Given the description of an element on the screen output the (x, y) to click on. 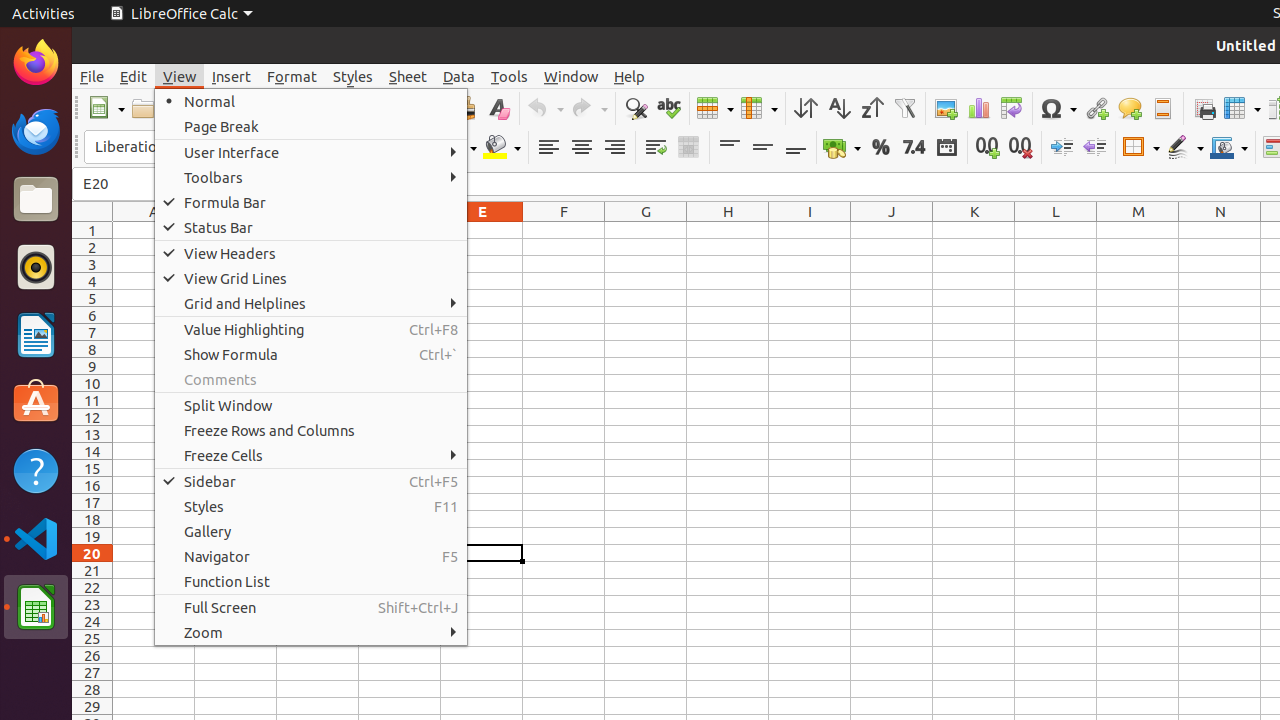
Print Area Element type: push-button (1203, 108)
Align Right Element type: push-button (614, 147)
Normal Element type: radio-menu-item (311, 101)
G1 Element type: table-cell (646, 230)
Increase Element type: push-button (1061, 147)
